Given the description of an element on the screen output the (x, y) to click on. 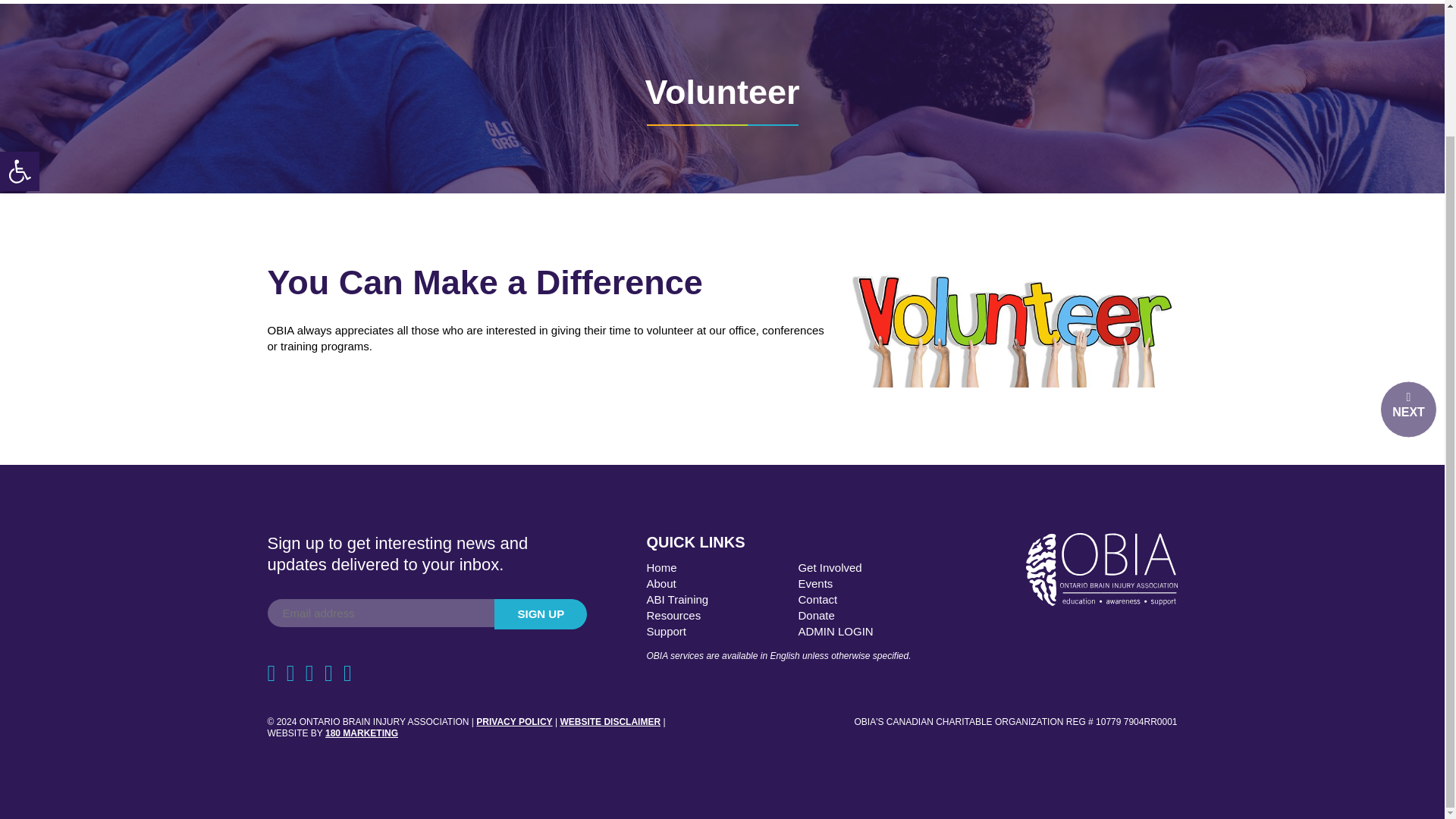
About (660, 583)
Accessibility Tools (19, 17)
Home (661, 567)
Sign Up (540, 613)
